Given the description of an element on the screen output the (x, y) to click on. 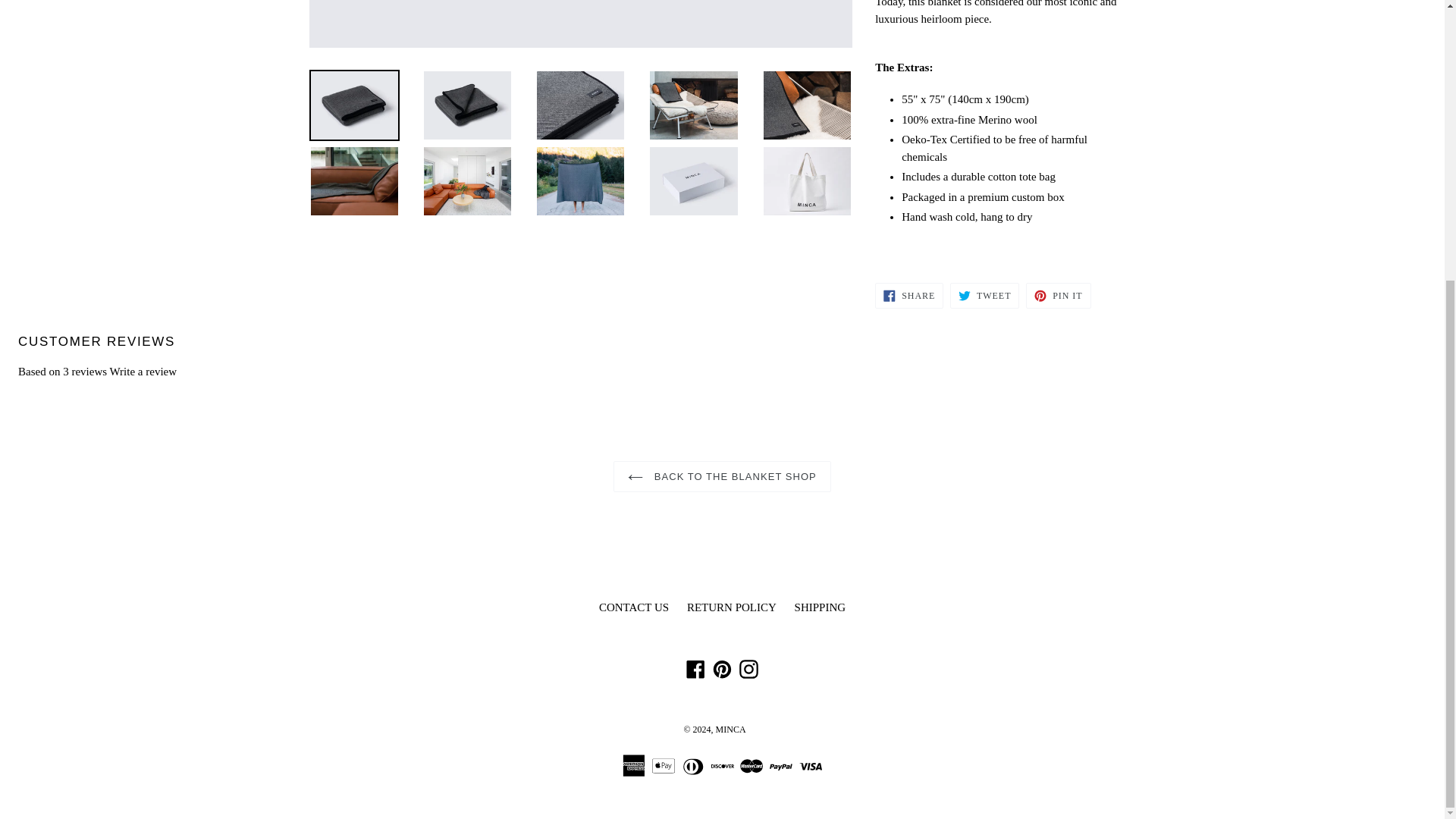
MINCA on Pinterest (721, 669)
MINCA on Facebook (695, 669)
Tweet on Twitter (984, 295)
Share on Facebook (909, 295)
Page 4 (1005, 29)
Pin on Pinterest (1058, 295)
MINCA on Instagram (748, 669)
